Given the description of an element on the screen output the (x, y) to click on. 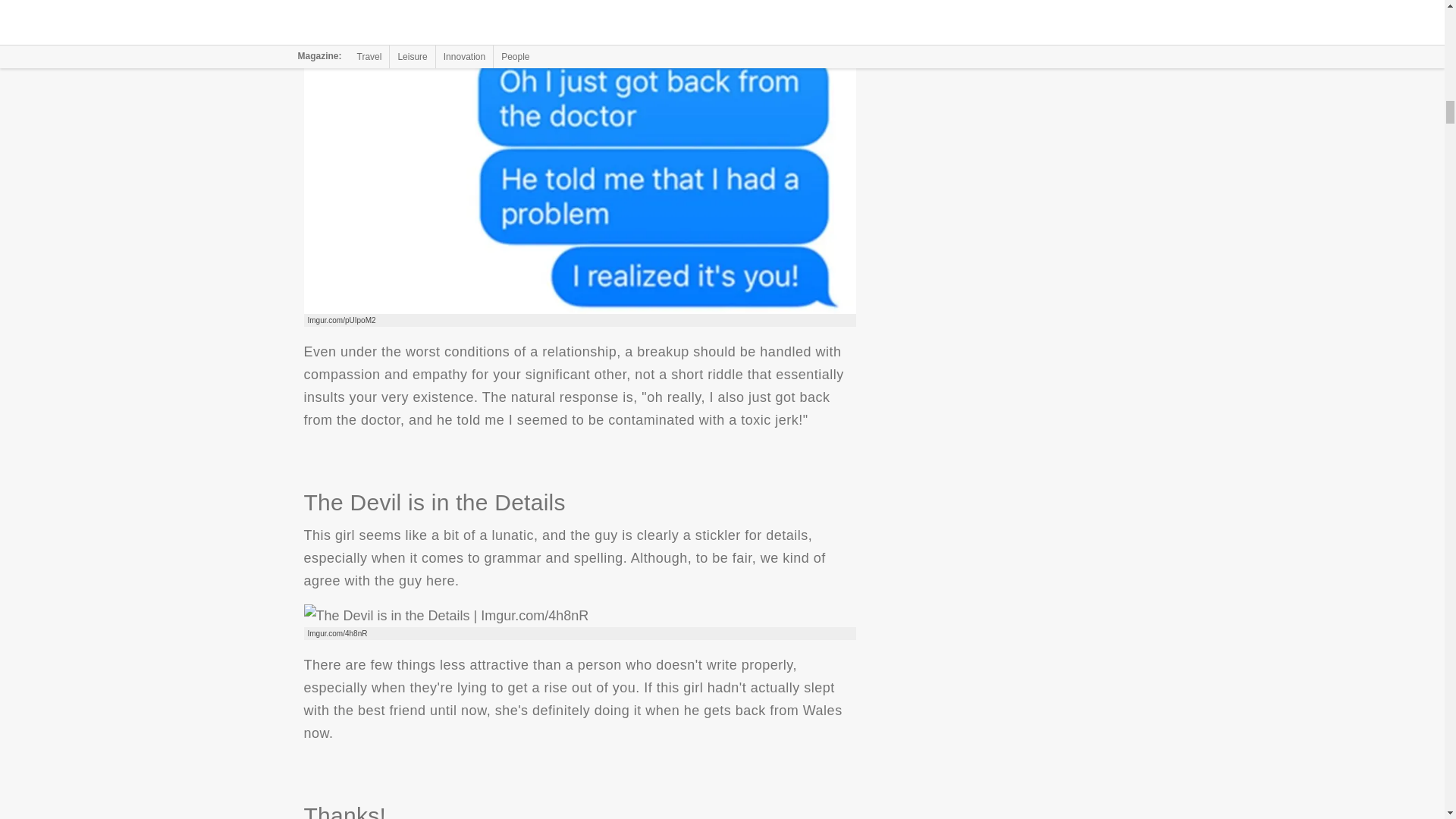
The Devil is in the Details (445, 615)
